Given the description of an element on the screen output the (x, y) to click on. 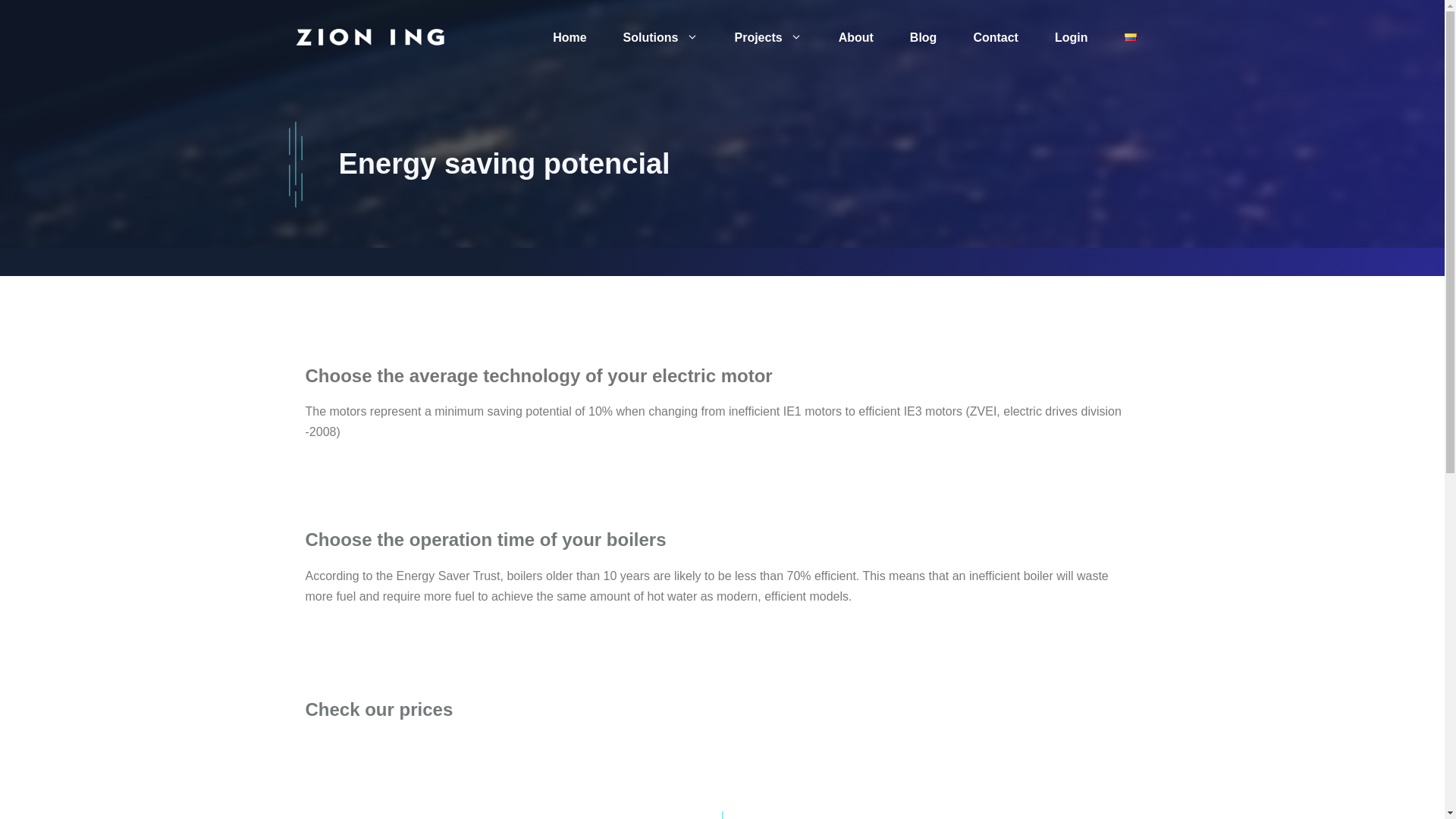
Home (569, 37)
Solutions (660, 37)
Login (1071, 37)
Contact (995, 37)
Blog (923, 37)
About (856, 37)
Projects (767, 37)
